Given the description of an element on the screen output the (x, y) to click on. 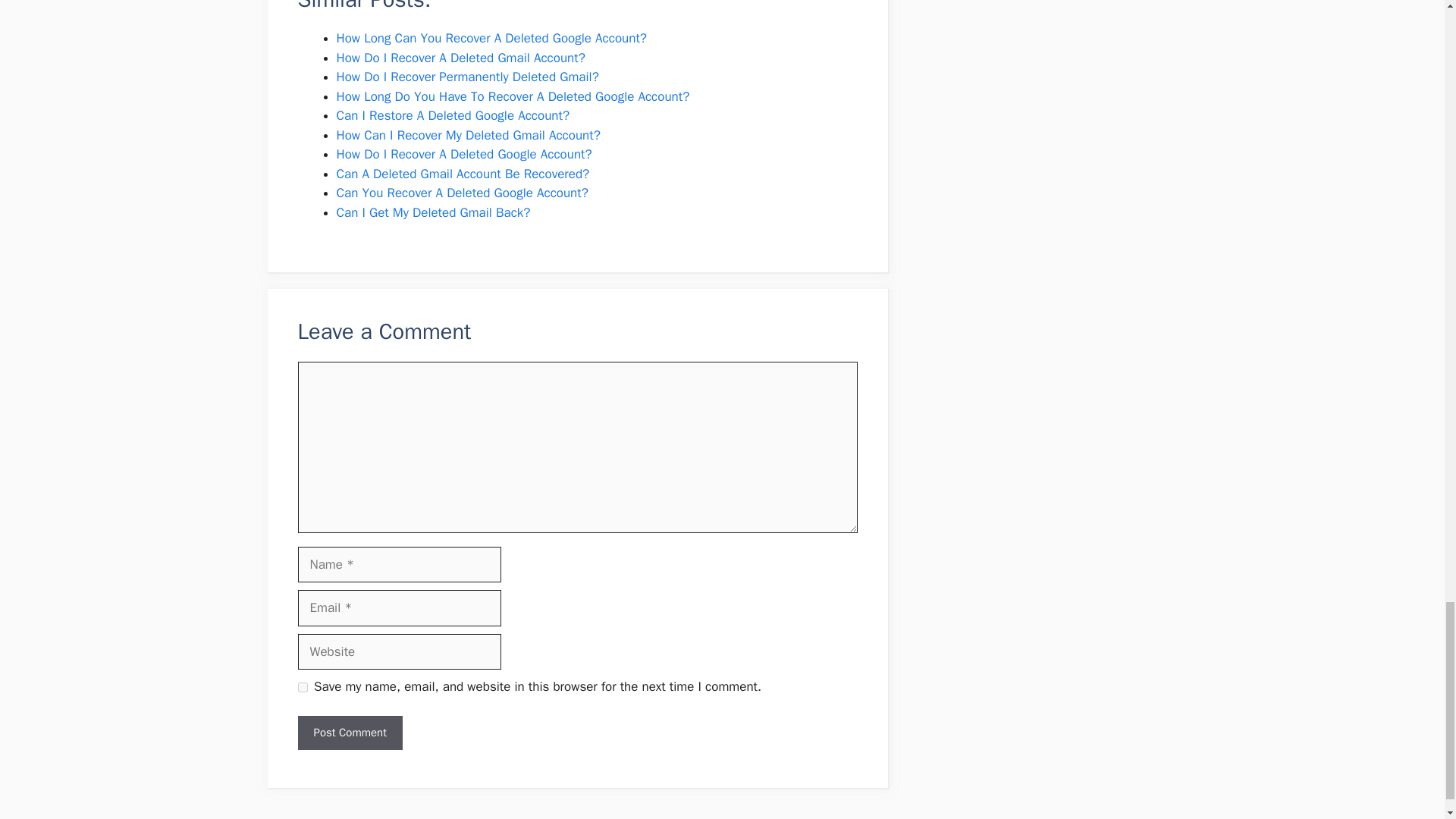
How Do I Recover A Deleted Google Account? (464, 154)
Can You Recover A Deleted Google Account? (462, 192)
Can I Get My Deleted Gmail Back? (433, 212)
How Do I Recover A Deleted Google Account? (464, 154)
How Can I Recover My Deleted Gmail Account? (467, 135)
How Long Can You Recover A Deleted Google Account? (491, 37)
Can I Restore A Deleted Google Account? (453, 115)
Post Comment (349, 732)
How Long Can You Recover A Deleted Google Account? (491, 37)
Can A Deleted Gmail Account Be Recovered? (462, 173)
